Given the description of an element on the screen output the (x, y) to click on. 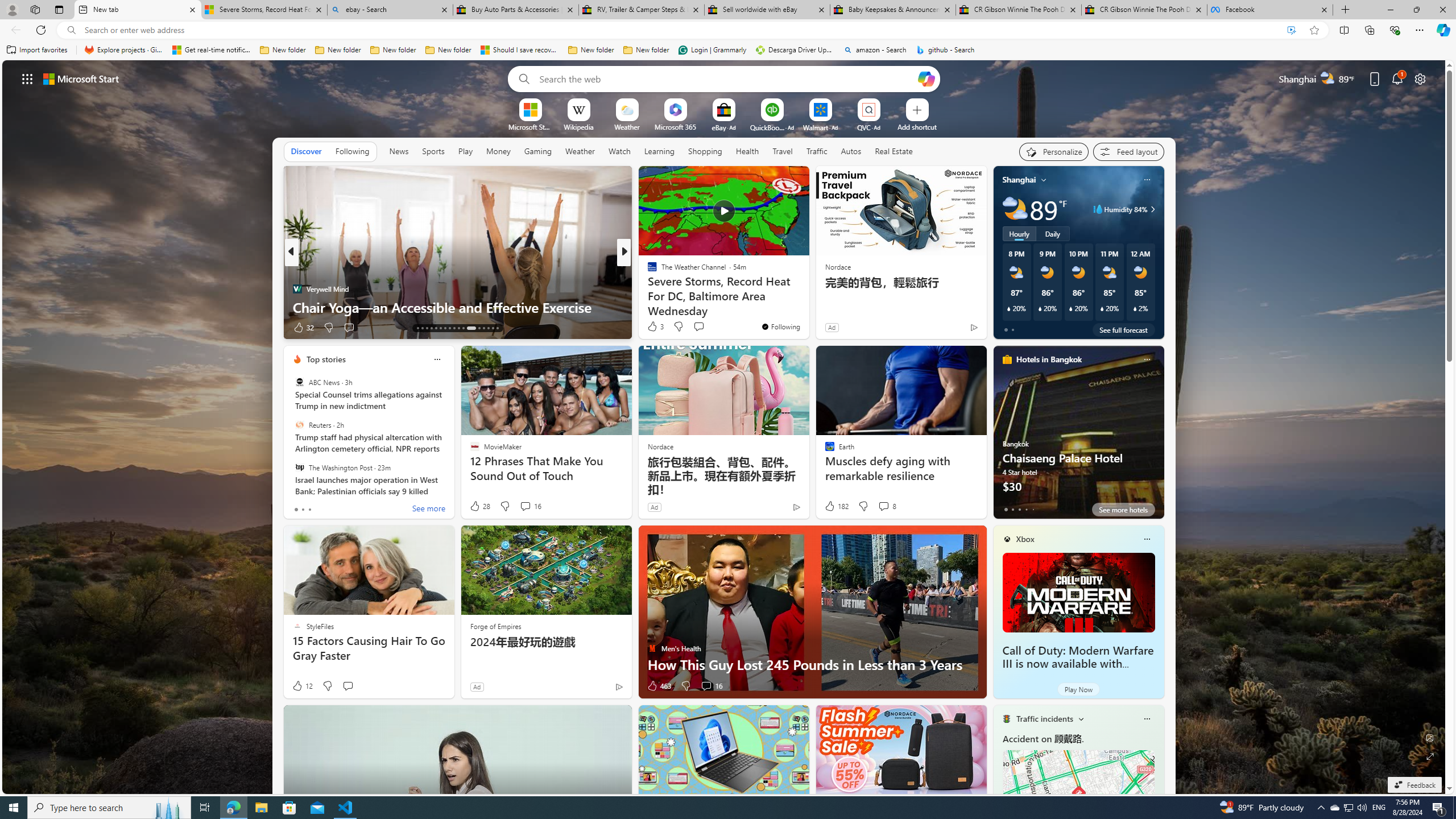
AutomationID: tab-21 (454, 328)
Real Estate (893, 151)
AutomationID: tab-23 (462, 328)
tab-1 (1012, 509)
Change scenarios (1080, 718)
View comments 1 Comment (703, 327)
Class: icon-img (1146, 718)
MUO (647, 288)
Descarga Driver Updater (794, 49)
Search icon (70, 29)
